Given the description of an element on the screen output the (x, y) to click on. 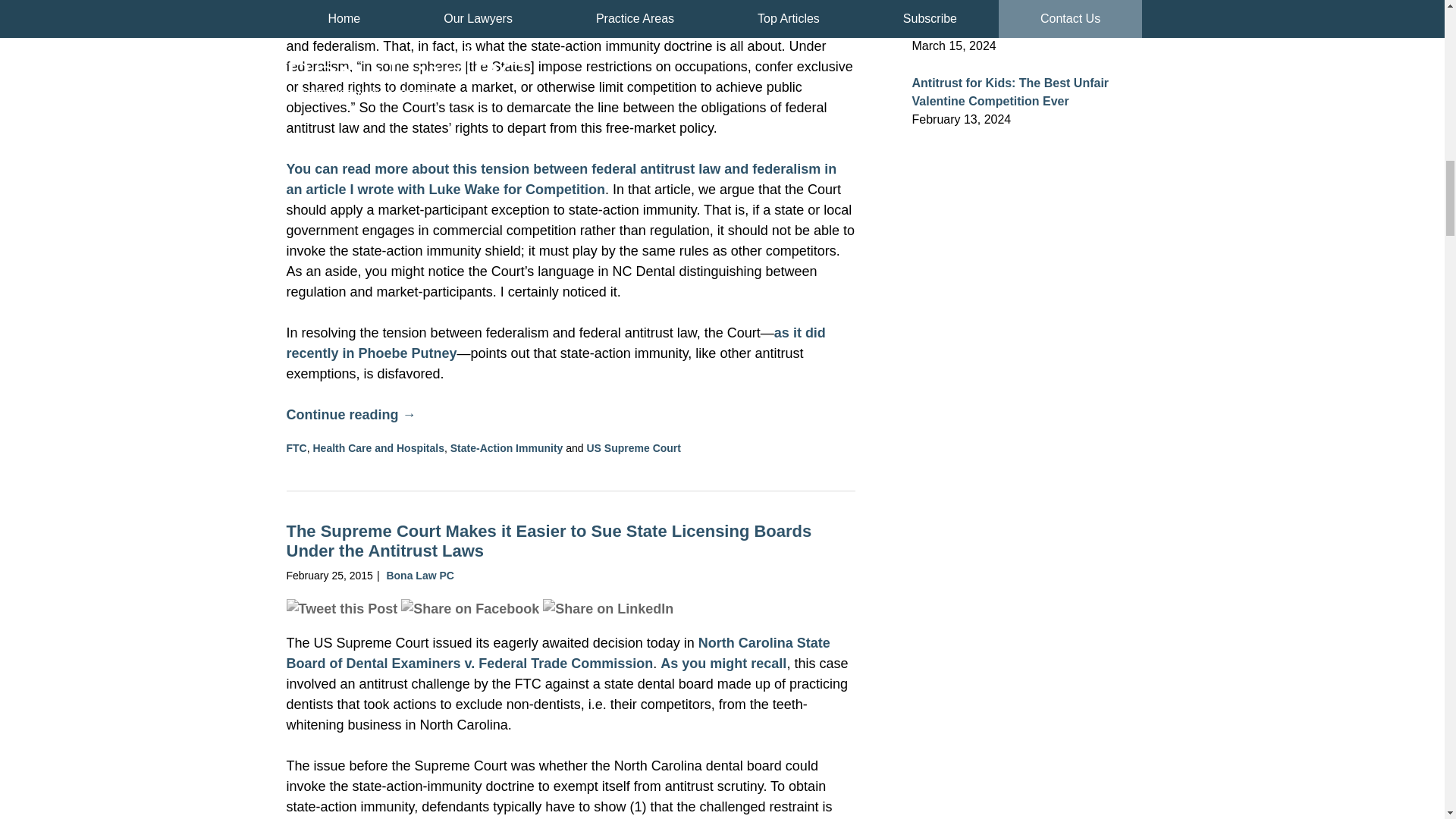
View all posts in State-Action Immunity (506, 448)
View all posts in FTC (296, 448)
View all posts in US Supreme Court (633, 448)
View all posts in Health Care and Hospitals (378, 448)
